Given the description of an element on the screen output the (x, y) to click on. 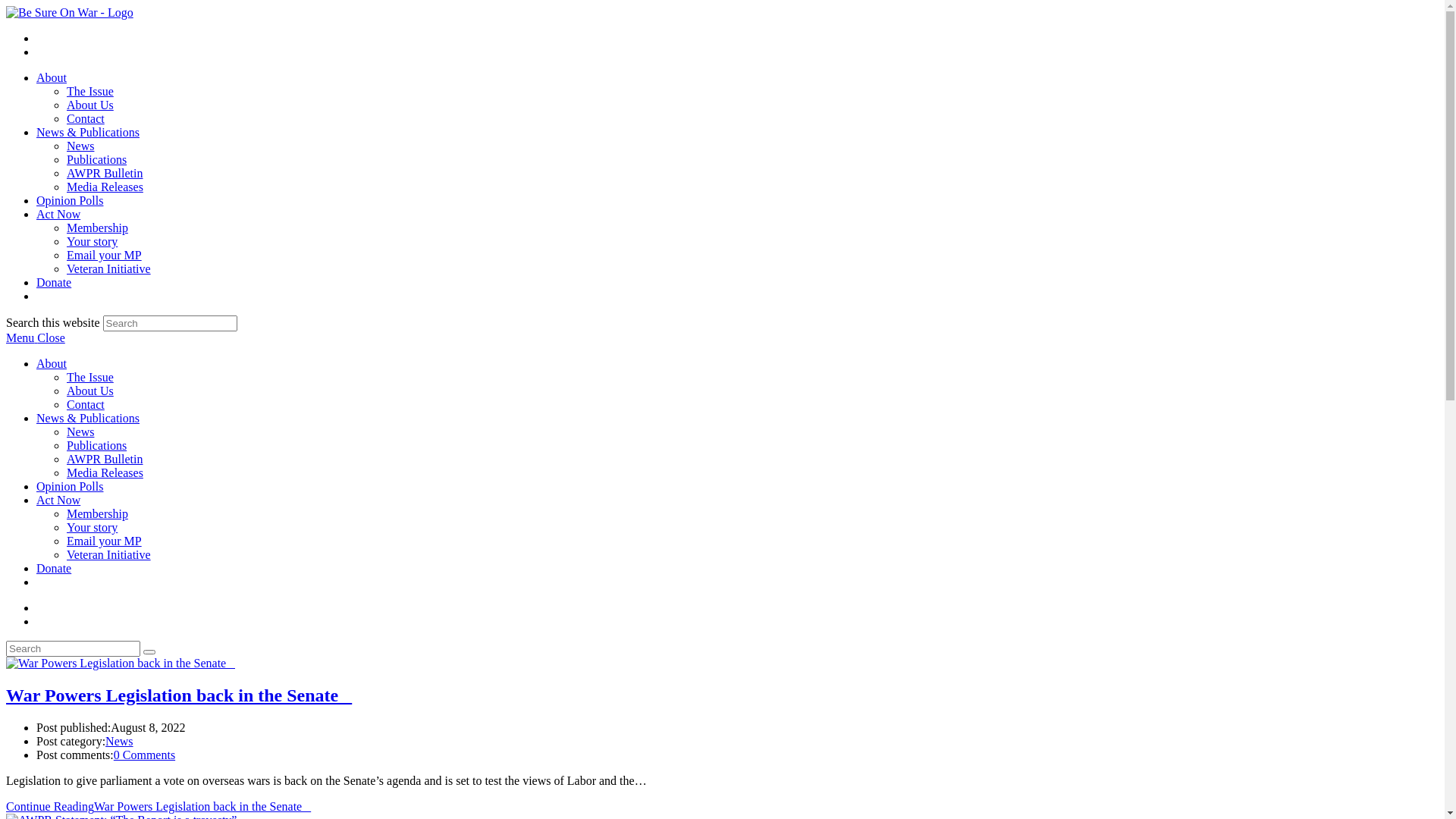
News & Publications Element type: text (87, 131)
Act Now Element type: text (58, 213)
News & Publications Element type: text (87, 417)
News Element type: text (118, 740)
Act Now Element type: text (58, 499)
Donate Element type: text (53, 282)
Veteran Initiative Element type: text (108, 554)
War Powers Legislation back in the Senate    Element type: text (178, 695)
About Us Element type: text (89, 390)
AWPR Bulletin Element type: text (104, 458)
Opinion Polls Element type: text (69, 200)
Contact Element type: text (85, 118)
About Element type: text (51, 77)
Membership Element type: text (97, 227)
About Element type: text (51, 363)
Donate Element type: text (53, 567)
Email your MP Element type: text (103, 540)
Media Releases Element type: text (104, 186)
AWPR Bulletin Element type: text (104, 172)
Media Releases Element type: text (104, 472)
Contact Element type: text (85, 404)
Veteran Initiative Element type: text (108, 268)
About Us Element type: text (89, 104)
Opinion Polls Element type: text (69, 486)
News Element type: text (80, 145)
Publications Element type: text (96, 445)
Your story Element type: text (91, 241)
The Issue Element type: text (89, 376)
Publications Element type: text (96, 159)
Continue ReadingWar Powers Legislation back in the Senate    Element type: text (158, 806)
Email your MP Element type: text (103, 254)
0 Comments Element type: text (144, 754)
Membership Element type: text (97, 513)
The Issue Element type: text (89, 90)
Menu Close Element type: text (35, 337)
Your story Element type: text (91, 526)
News Element type: text (80, 431)
